Given the description of an element on the screen output the (x, y) to click on. 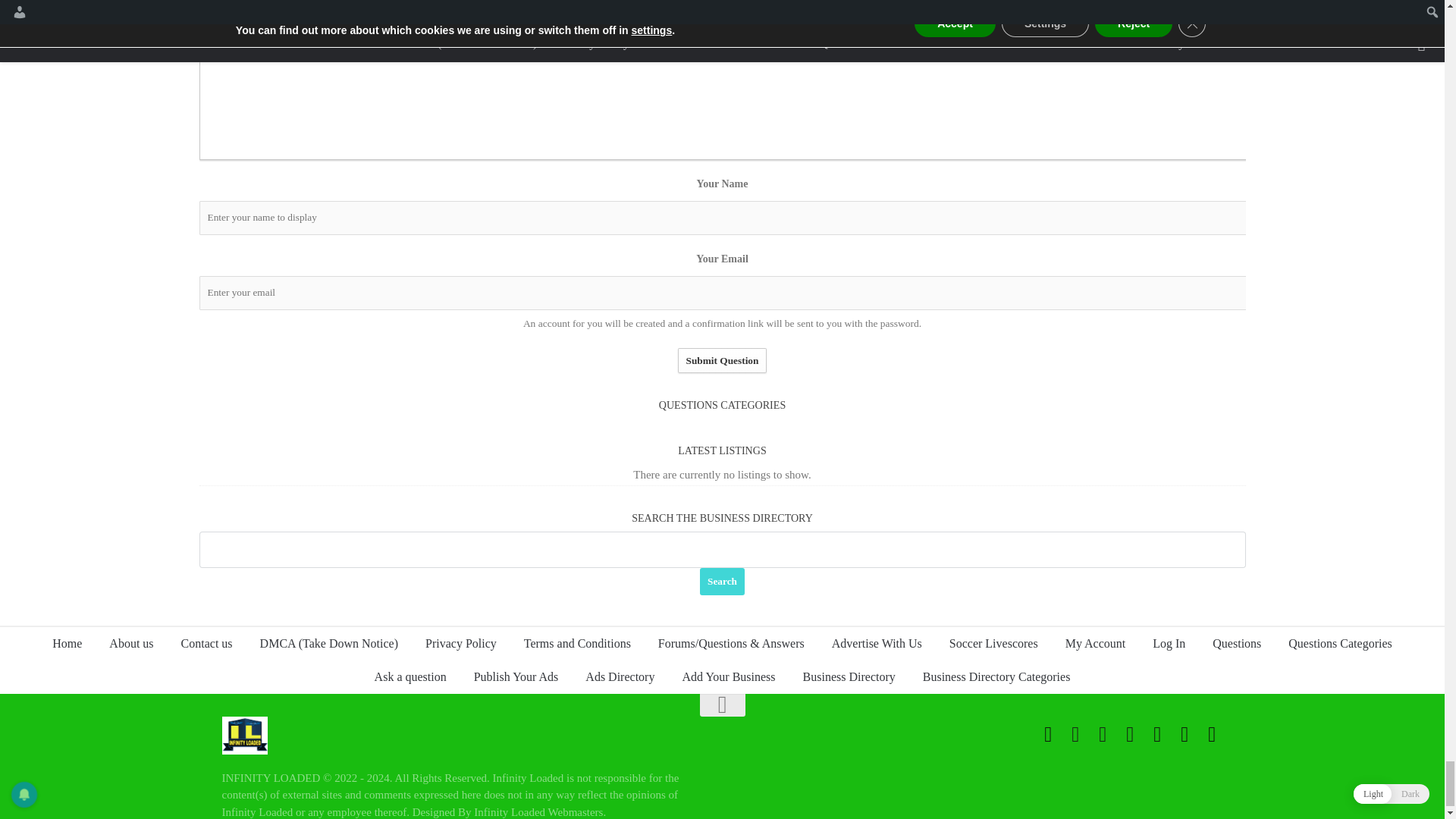
Search (722, 581)
Search (722, 581)
